Given the description of an element on the screen output the (x, y) to click on. 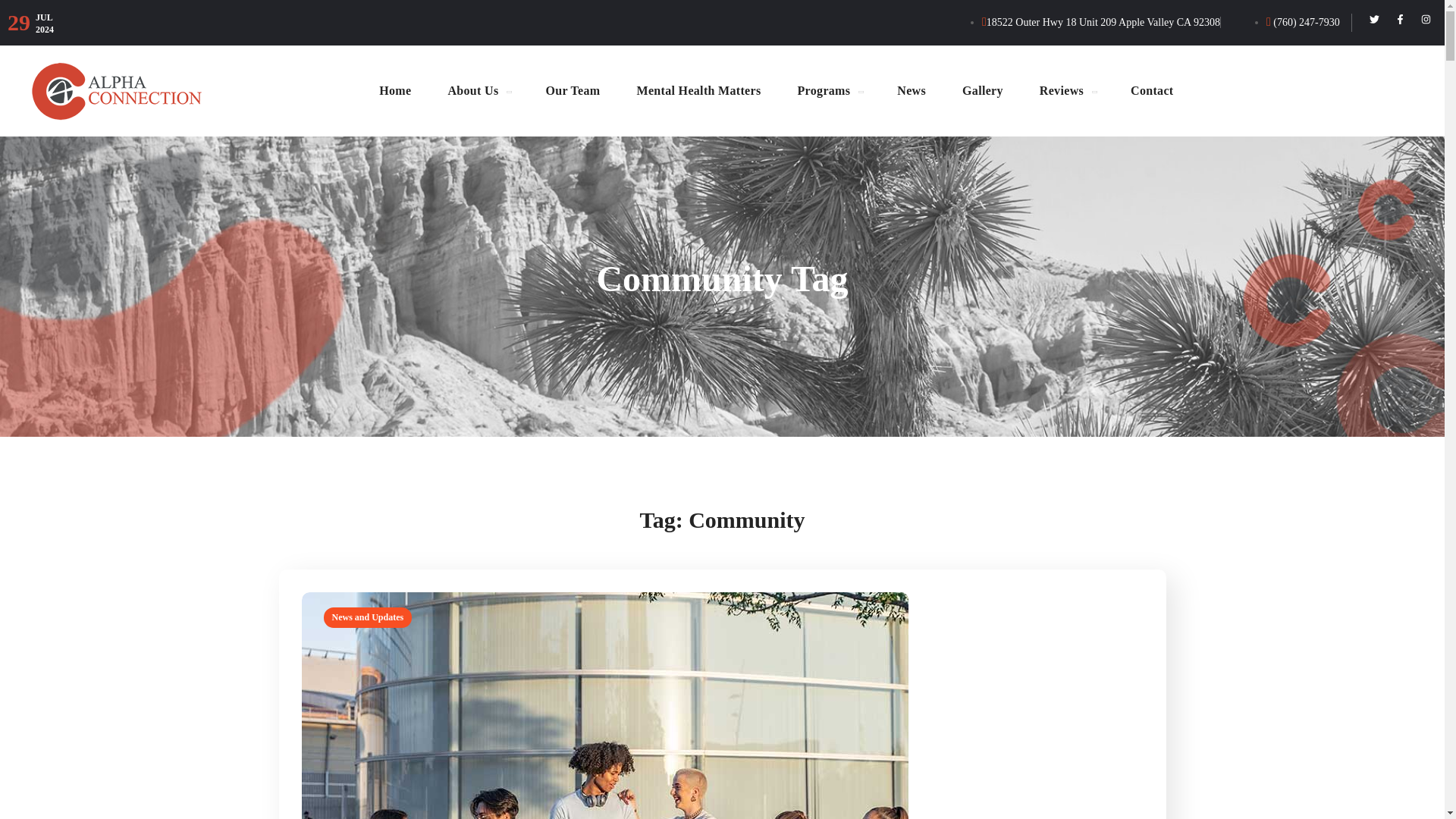
18522 Outer Hwy 18 Unit 209 Apple Valley CA 92308 (1100, 21)
Home (395, 90)
Twitter (1374, 18)
Our Team (572, 90)
Contact (1151, 90)
Reviews (1067, 90)
Instagram (1426, 18)
Mental Health Matters (698, 90)
Facebook (1399, 18)
Programs (828, 90)
About Us (478, 90)
Gallery (982, 90)
